Given the description of an element on the screen output the (x, y) to click on. 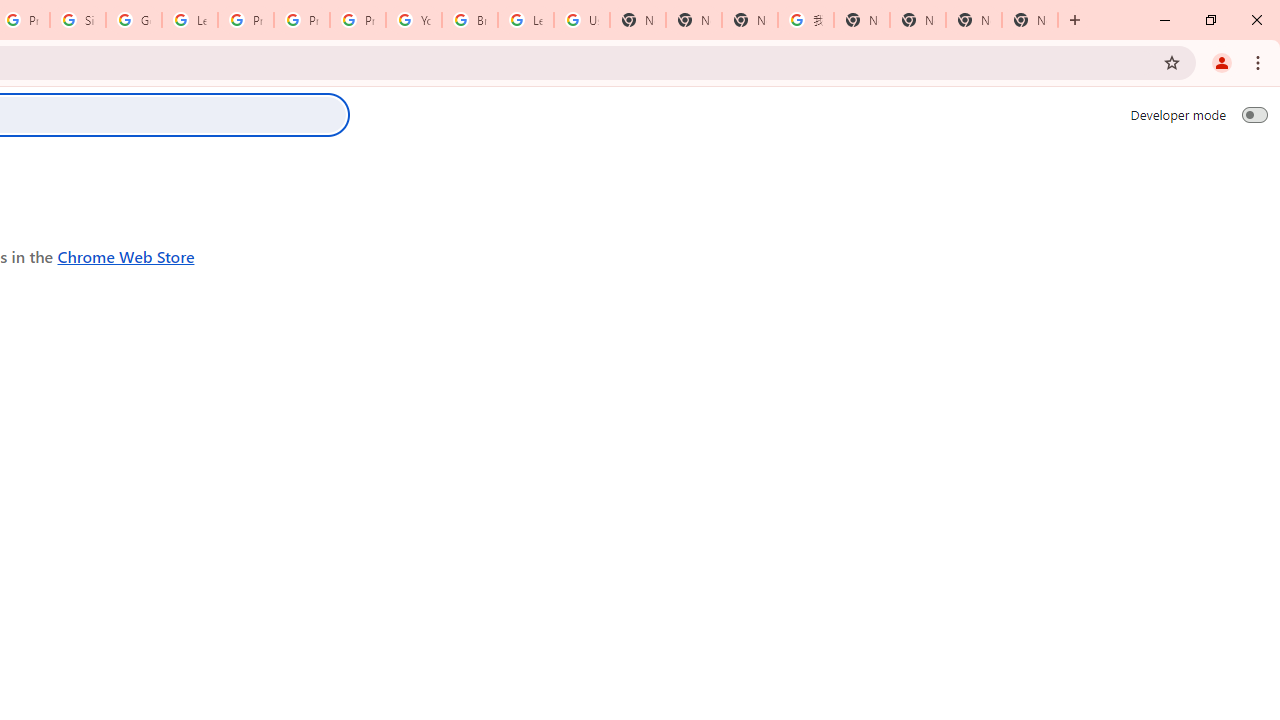
New Tab (693, 20)
Privacy Help Center - Policies Help (245, 20)
